Given the description of an element on the screen output the (x, y) to click on. 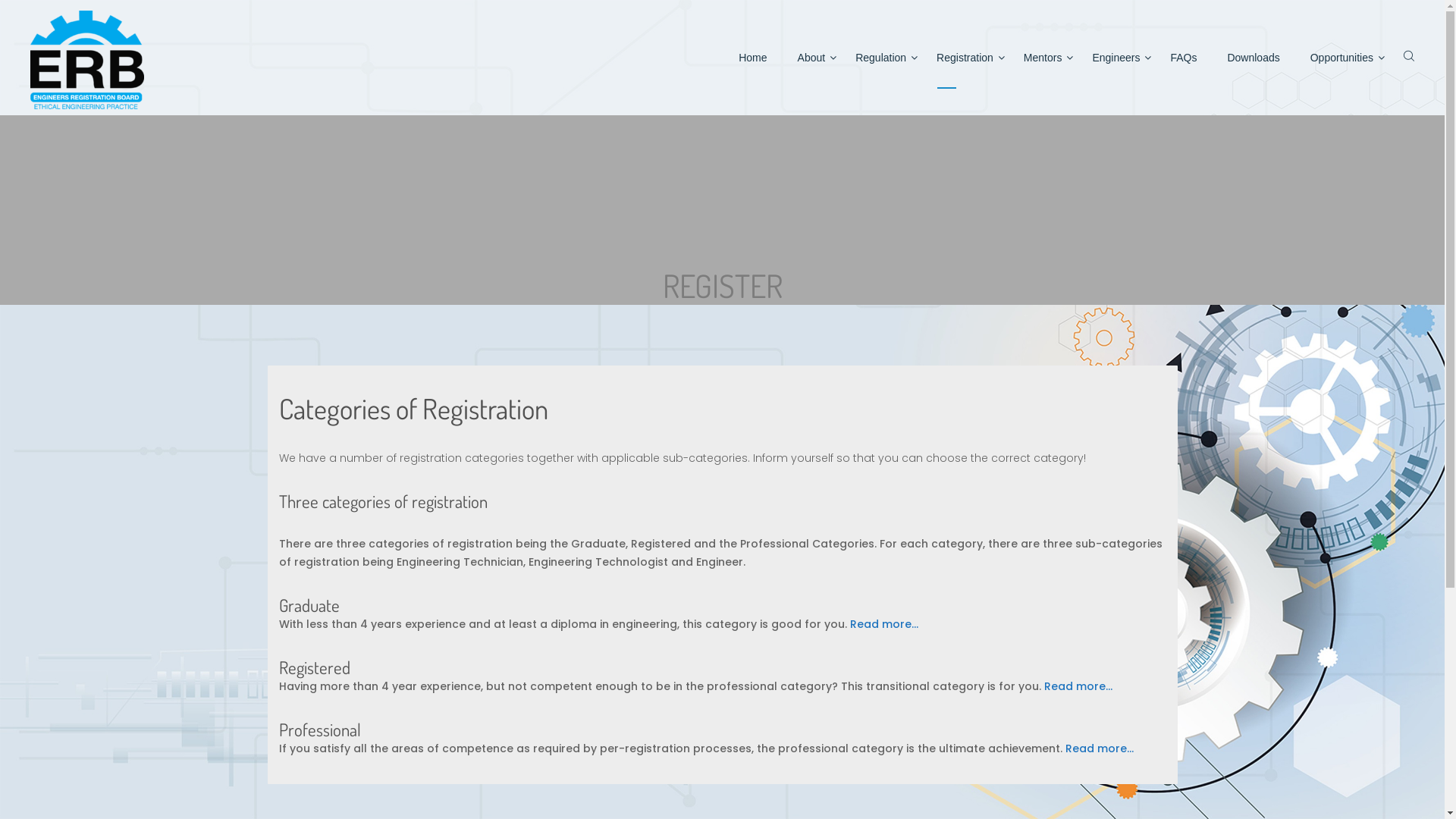
Opportunities Element type: text (1341, 57)
FAQs Element type: text (1182, 57)
Registered Element type: text (314, 666)
Engineers Element type: text (1115, 57)
Mentors Element type: text (1042, 57)
Professional Element type: text (319, 729)
Graduate Element type: text (309, 604)
Home Element type: text (752, 57)
Registration Element type: text (964, 57)
Regulation Element type: text (880, 57)
About Element type: text (811, 57)
Downloads Element type: text (1252, 57)
